Given the description of an element on the screen output the (x, y) to click on. 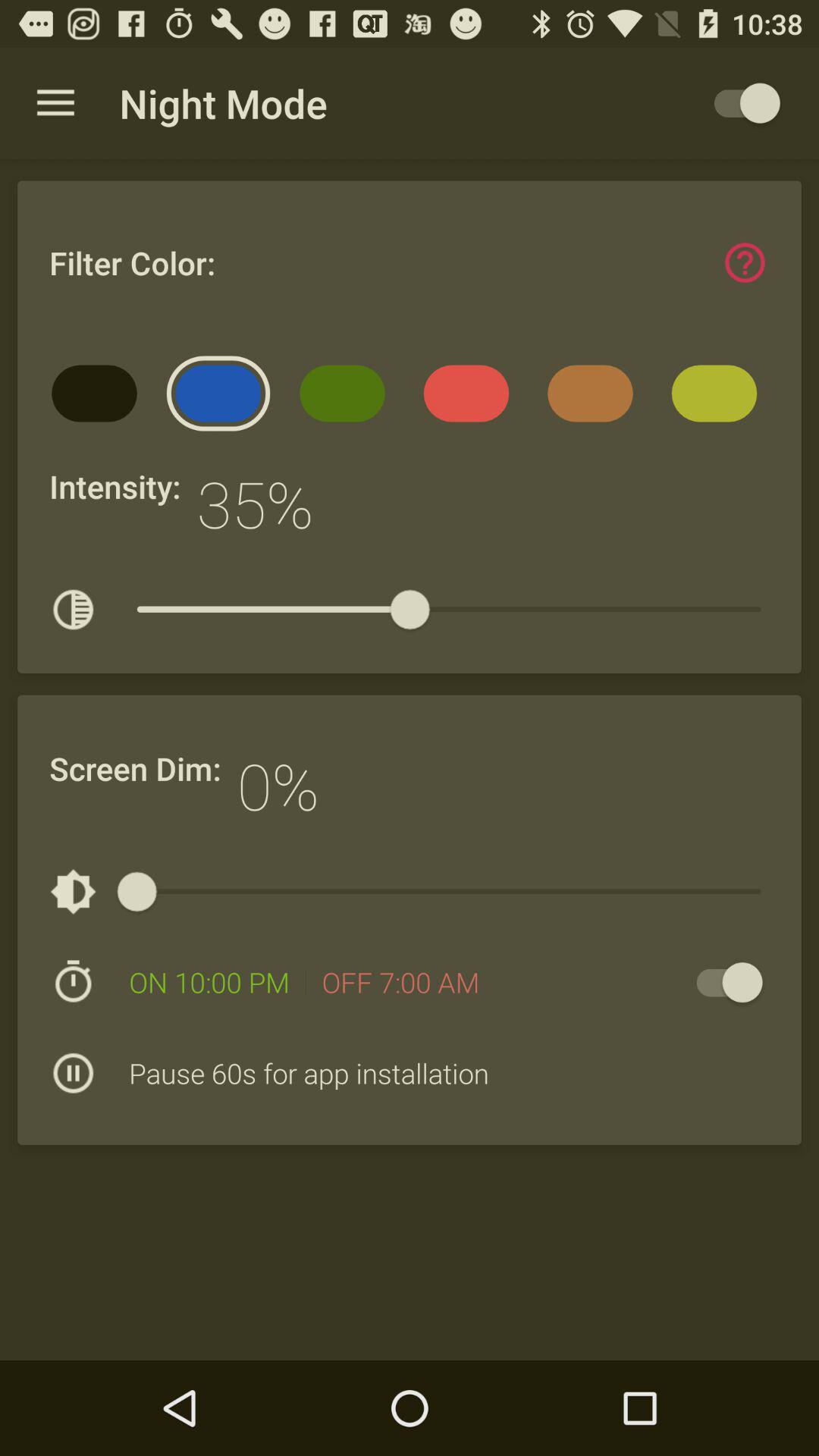
toggle timer (722, 982)
